Given the description of an element on the screen output the (x, y) to click on. 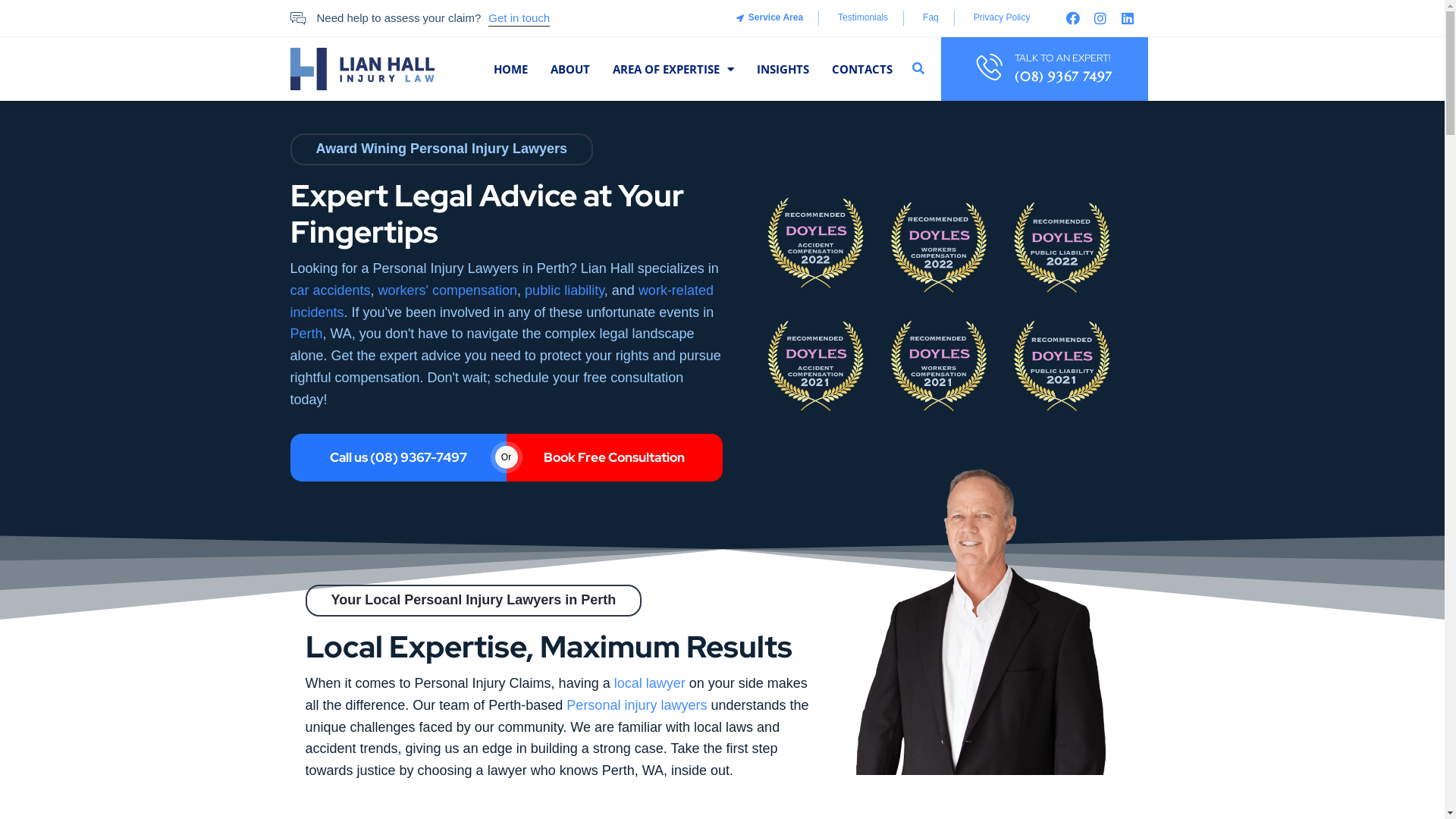
Perth Element type: text (305, 333)
ABOUT Element type: text (569, 68)
Faq Element type: text (928, 17)
Call us (08) 9367-7497 Element type: text (397, 457)
Testimonials Element type: text (861, 17)
work-related incidents Element type: text (500, 301)
Privacy Policy Element type: text (999, 17)
TALK TO AN EXPERT! Element type: text (1062, 57)
HOME Element type: text (510, 68)
Service Area Element type: text (768, 17)
(08) 9367 7497 Element type: text (1062, 76)
local lawyer Element type: text (649, 682)
AREA OF EXPERTISE Element type: text (673, 68)
Book Free Consultation Element type: text (614, 457)
Get in touch Element type: text (518, 18)
CONTACTS Element type: text (861, 68)
public liability Element type: text (564, 290)
car accidents Element type: text (329, 290)
workers' compensation Element type: text (447, 290)
Personal injury lawyers Element type: text (636, 704)
INSIGHTS Element type: text (782, 68)
